Given the description of an element on the screen output the (x, y) to click on. 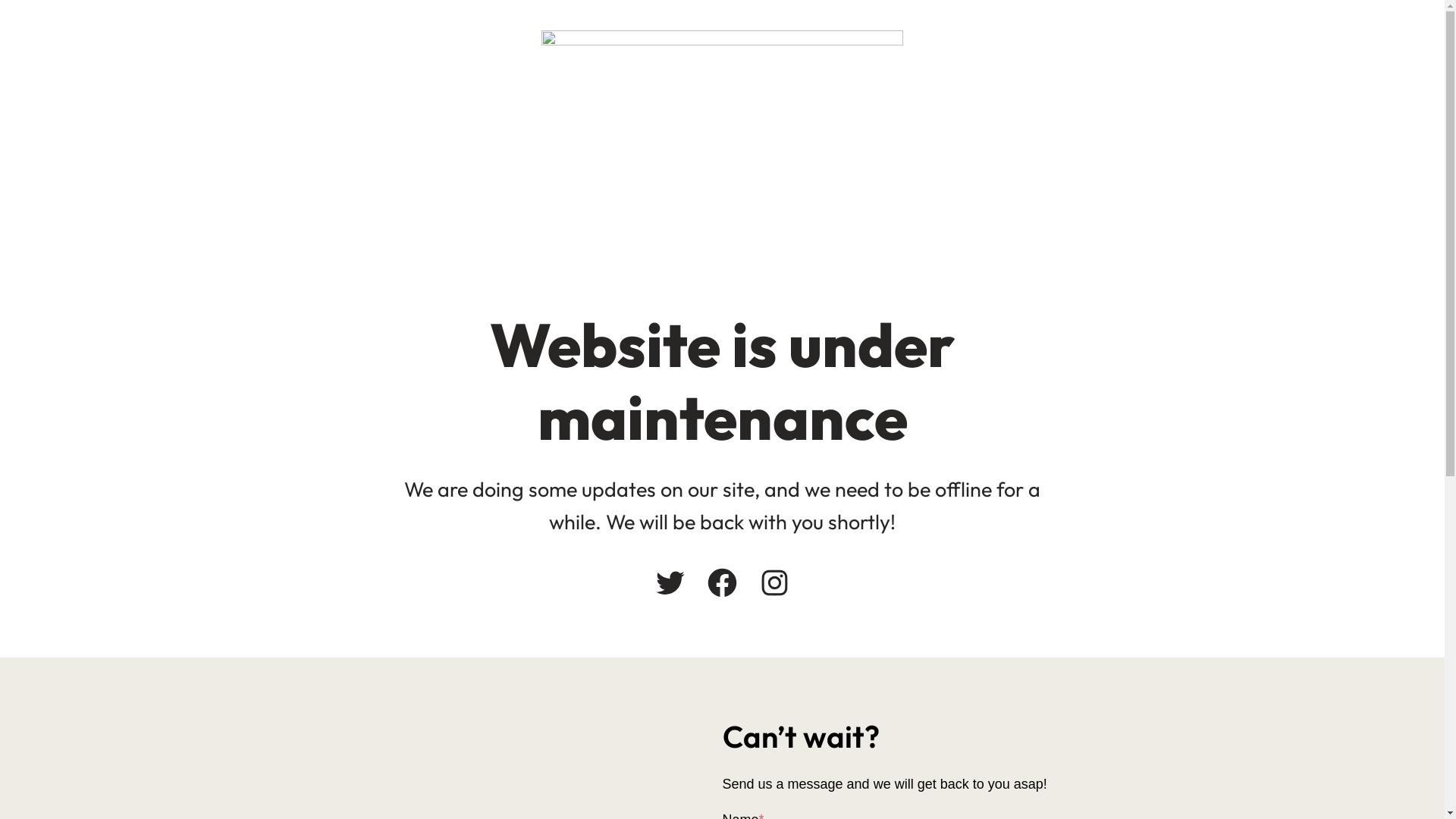
Instagram Element type: text (774, 582)
Twitter Element type: text (669, 582)
Facebook Element type: text (722, 582)
